Given the description of an element on the screen output the (x, y) to click on. 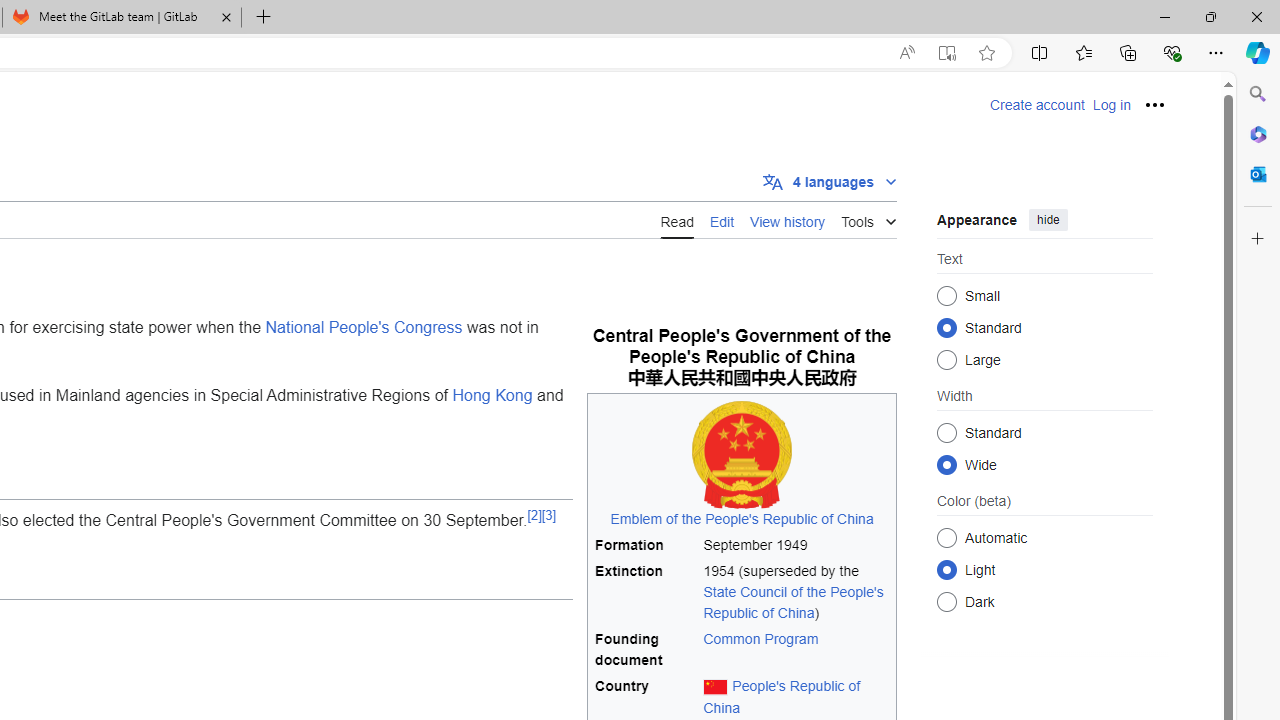
Formation (646, 544)
Emblem of the People's Republic of China (742, 518)
Extinction (646, 591)
View history (787, 219)
Edit (721, 219)
Common Program (760, 639)
Country (646, 697)
hide (1048, 219)
Automatic (946, 537)
Create account (1037, 105)
